Given the description of an element on the screen output the (x, y) to click on. 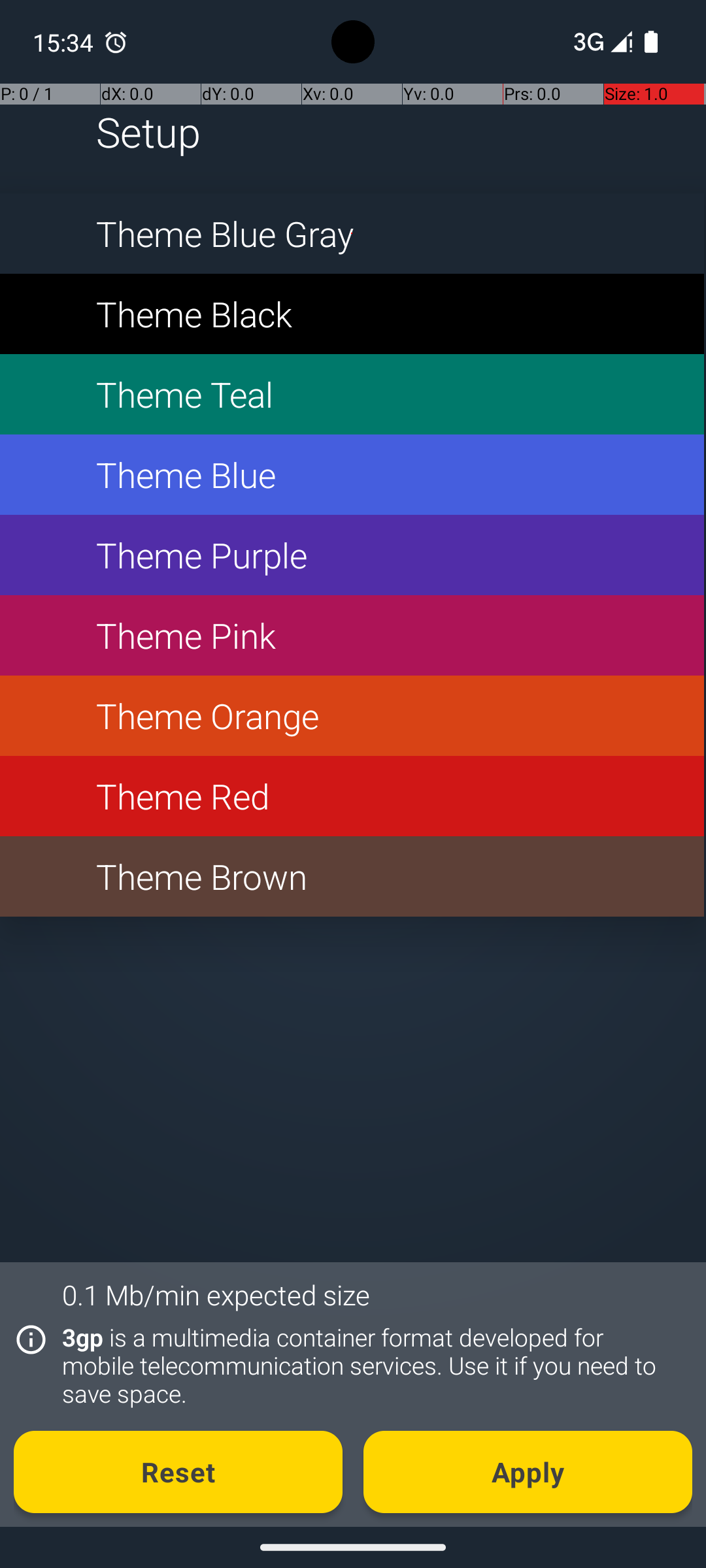
Theme Black Element type: android.widget.TextView (352, 313)
Theme Pink Element type: android.widget.TextView (352, 635)
Theme Orange Element type: android.widget.TextView (352, 715)
Theme Brown Element type: android.widget.TextView (352, 876)
Clock notification: Missed alarm Element type: android.widget.ImageView (115, 41)
